Given the description of an element on the screen output the (x, y) to click on. 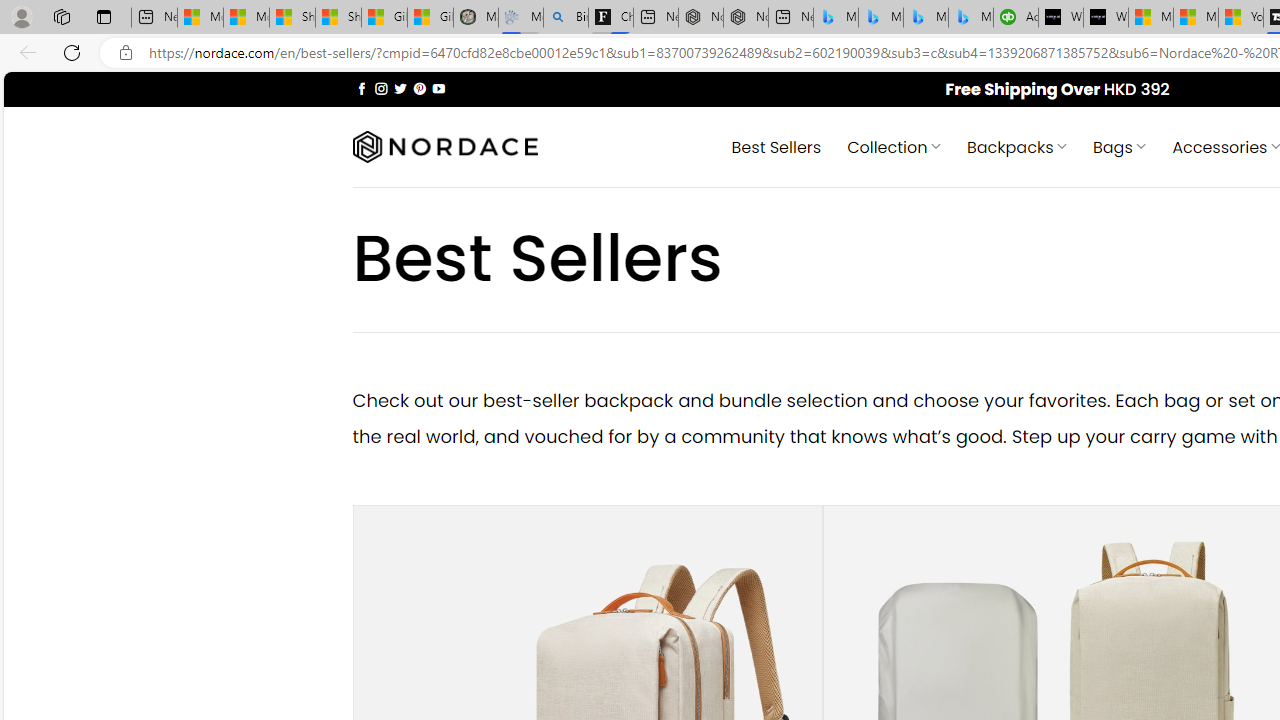
 Best Sellers (775, 146)
Follow on Pinterest (419, 88)
Microsoft Bing Travel - Shangri-La Hotel Bangkok (970, 17)
Shanghai, China weather forecast | Microsoft Weather (338, 17)
View site information (125, 53)
